Given the description of an element on the screen output the (x, y) to click on. 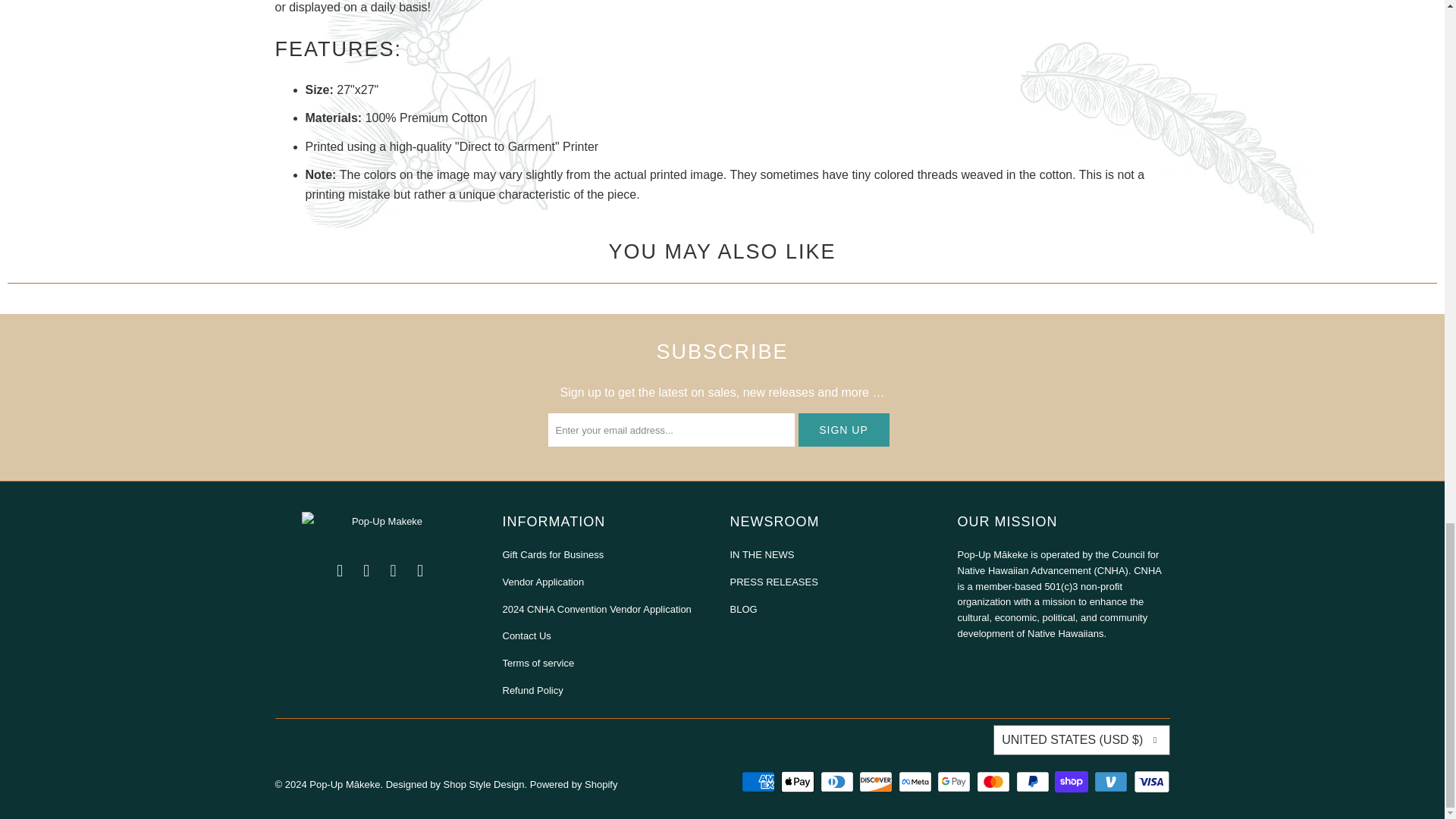
Meta Pay (916, 781)
PayPal (1034, 781)
Mastercard (994, 781)
Discover (877, 781)
American Express (759, 781)
Visa (1150, 781)
Sign Up (842, 429)
Apple Pay (798, 781)
Shop Pay (1072, 781)
Venmo (1112, 781)
Google Pay (955, 781)
Diners Club (839, 781)
